Given the description of an element on the screen output the (x, y) to click on. 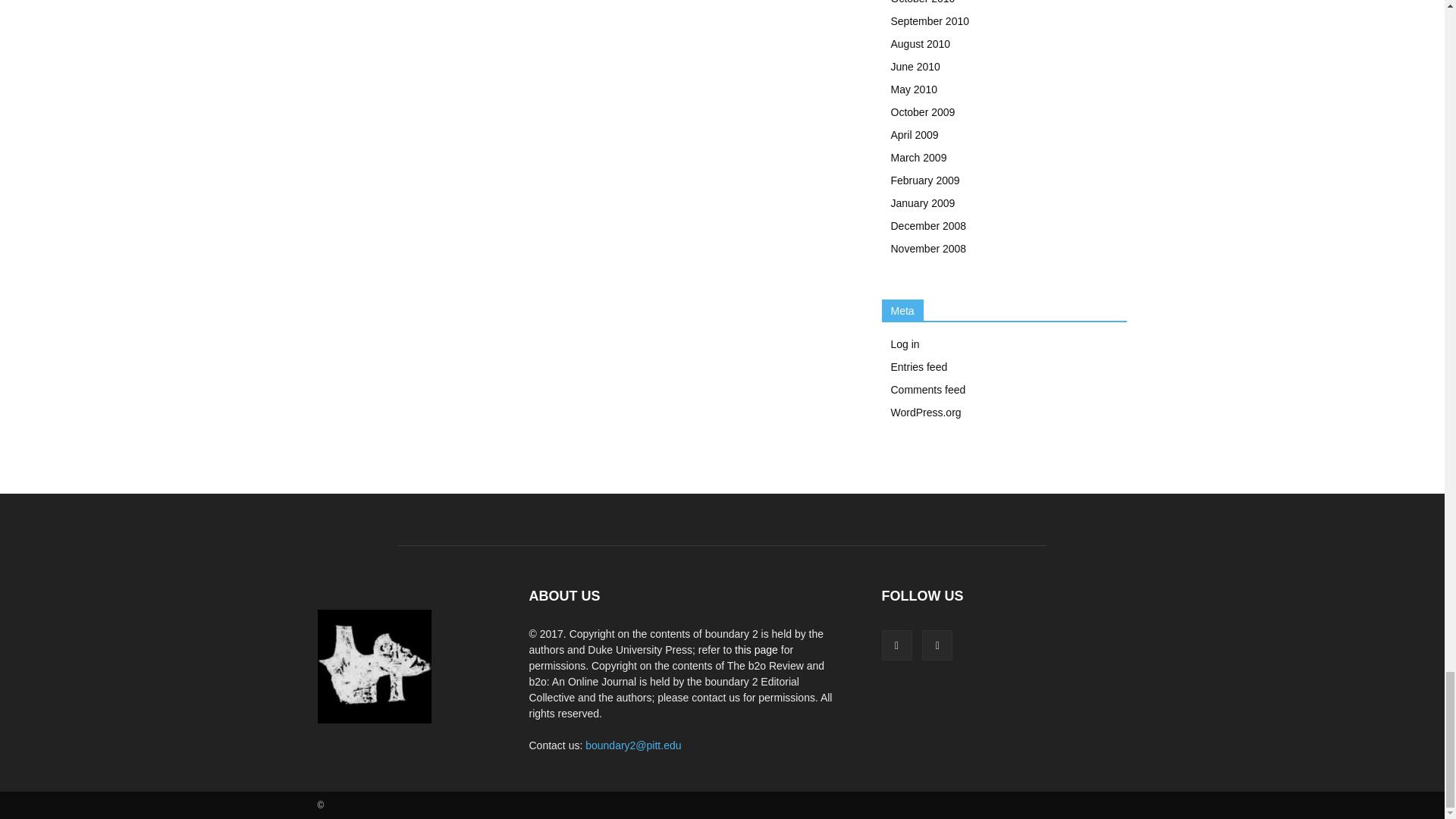
Facebook (895, 644)
Twitter (936, 644)
